Given the description of an element on the screen output the (x, y) to click on. 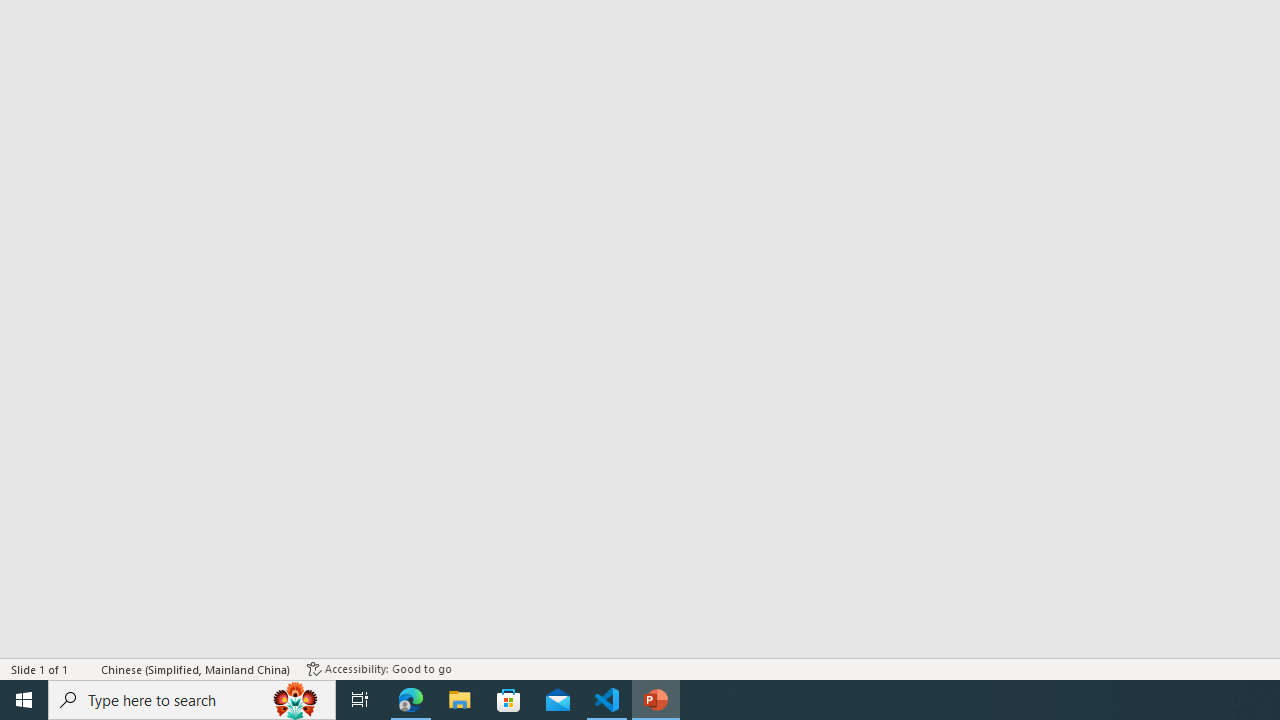
PowerPoint - 1 running window (656, 699)
Microsoft Store (509, 699)
Accessibility Checker Accessibility: Good to go (379, 668)
Visual Studio Code - 1 running window (607, 699)
Microsoft Edge - 1 running window (411, 699)
Start (24, 699)
File Explorer (460, 699)
Type here to search (191, 699)
Search highlights icon opens search home window (295, 699)
Spell Check  (86, 668)
Task View (359, 699)
